Given the description of an element on the screen output the (x, y) to click on. 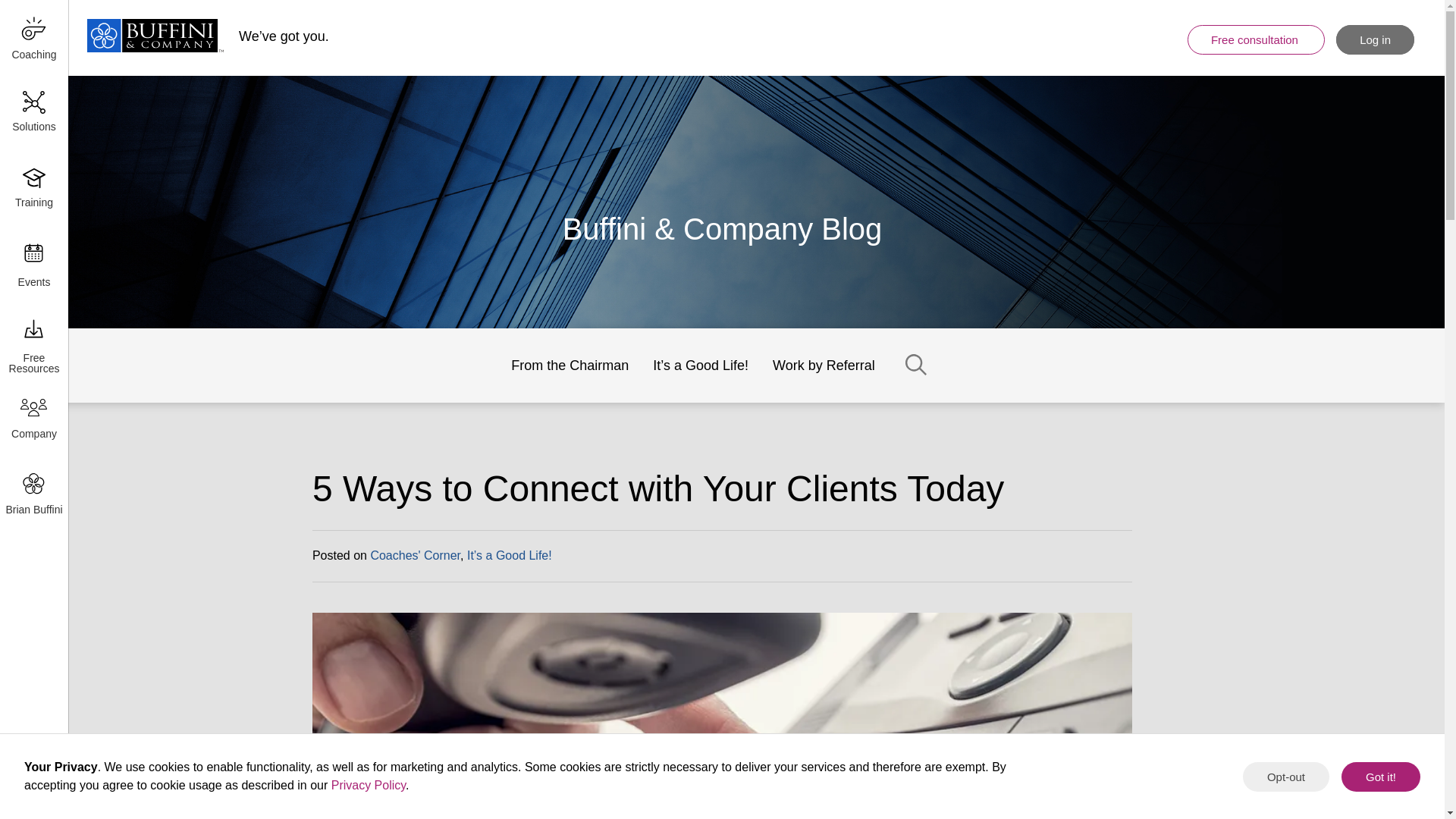
Coaching (33, 37)
Log in (1374, 39)
Solutions (33, 113)
Training (33, 189)
Free consultation (1256, 39)
